Given the description of an element on the screen output the (x, y) to click on. 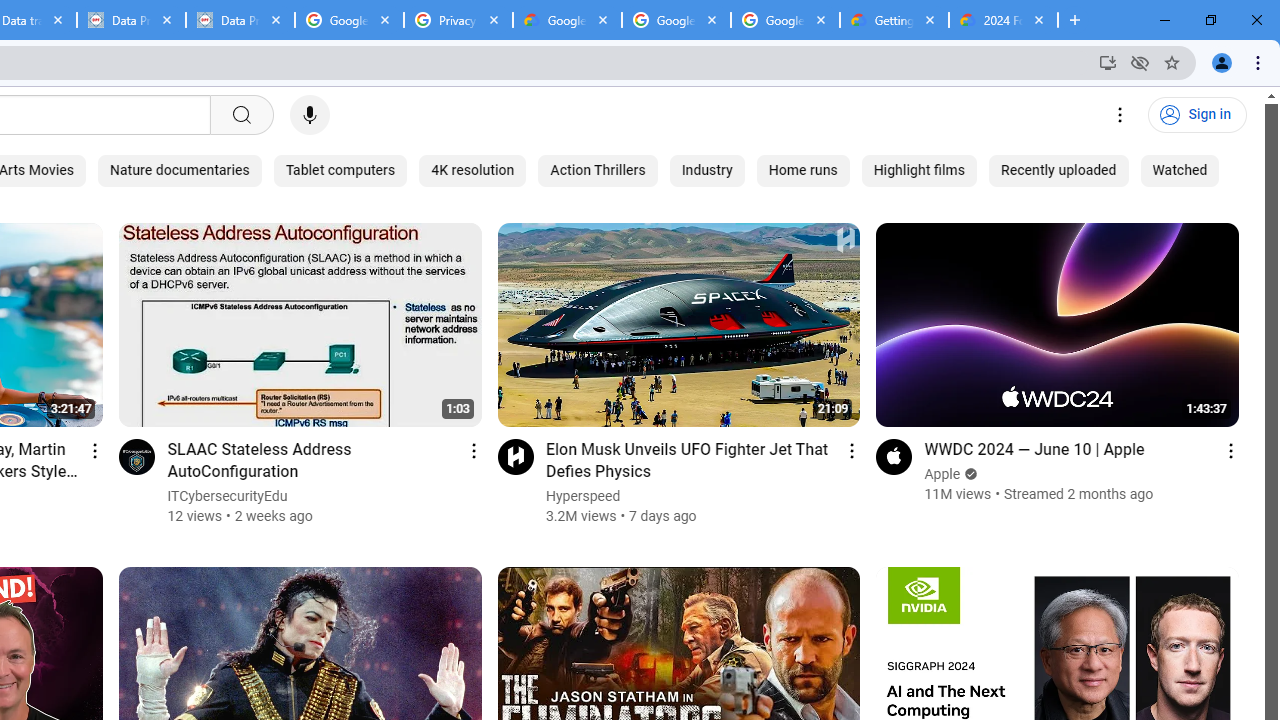
Google Cloud Terms Directory | Google Cloud (567, 20)
Home runs (802, 170)
Nature documentaries (180, 170)
Google Workspace - Specific Terms (784, 20)
4K resolution (472, 170)
Go to channel (893, 456)
